Given the description of an element on the screen output the (x, y) to click on. 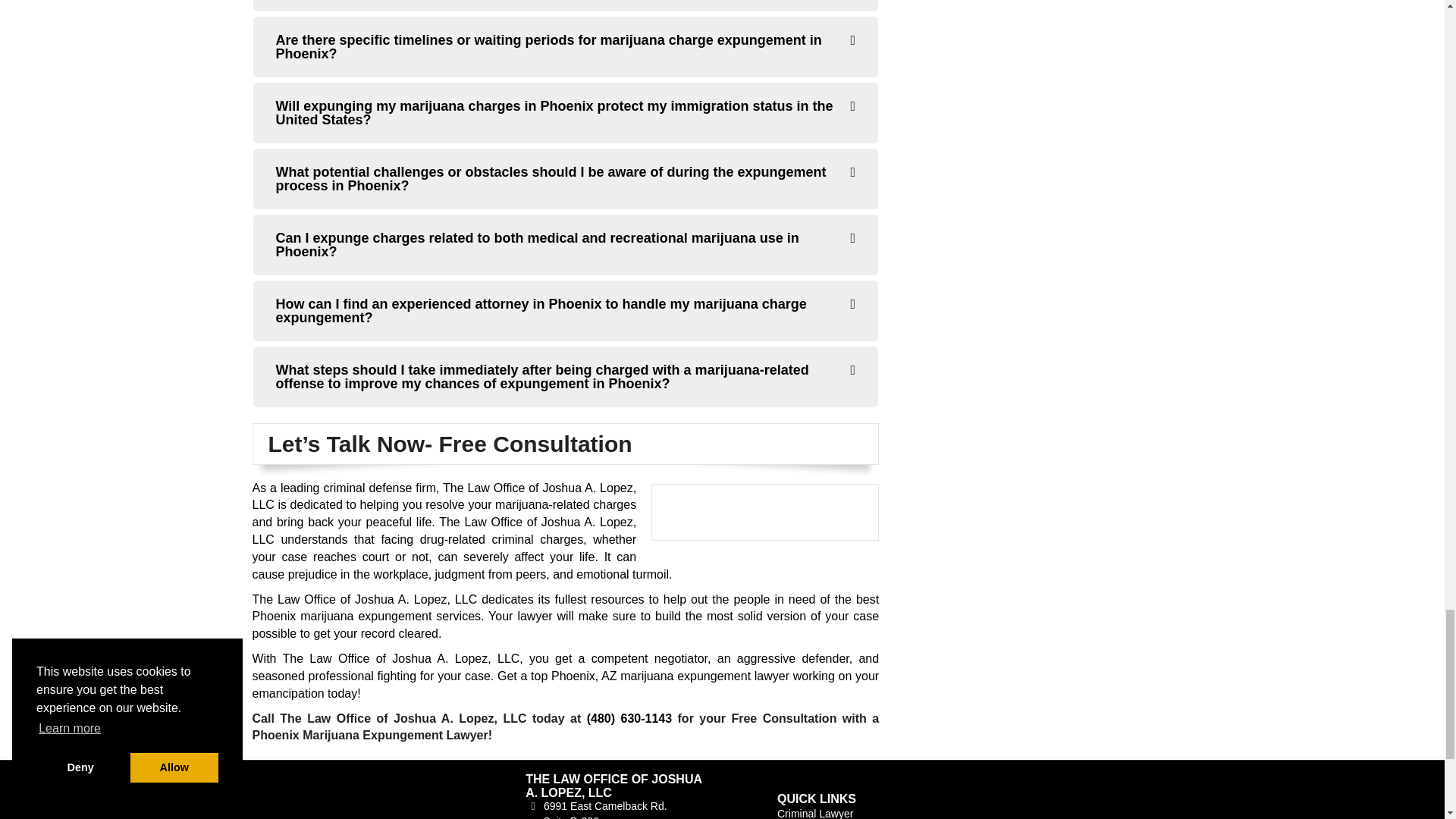
Criminal Lawyer (815, 813)
